Given the description of an element on the screen output the (x, y) to click on. 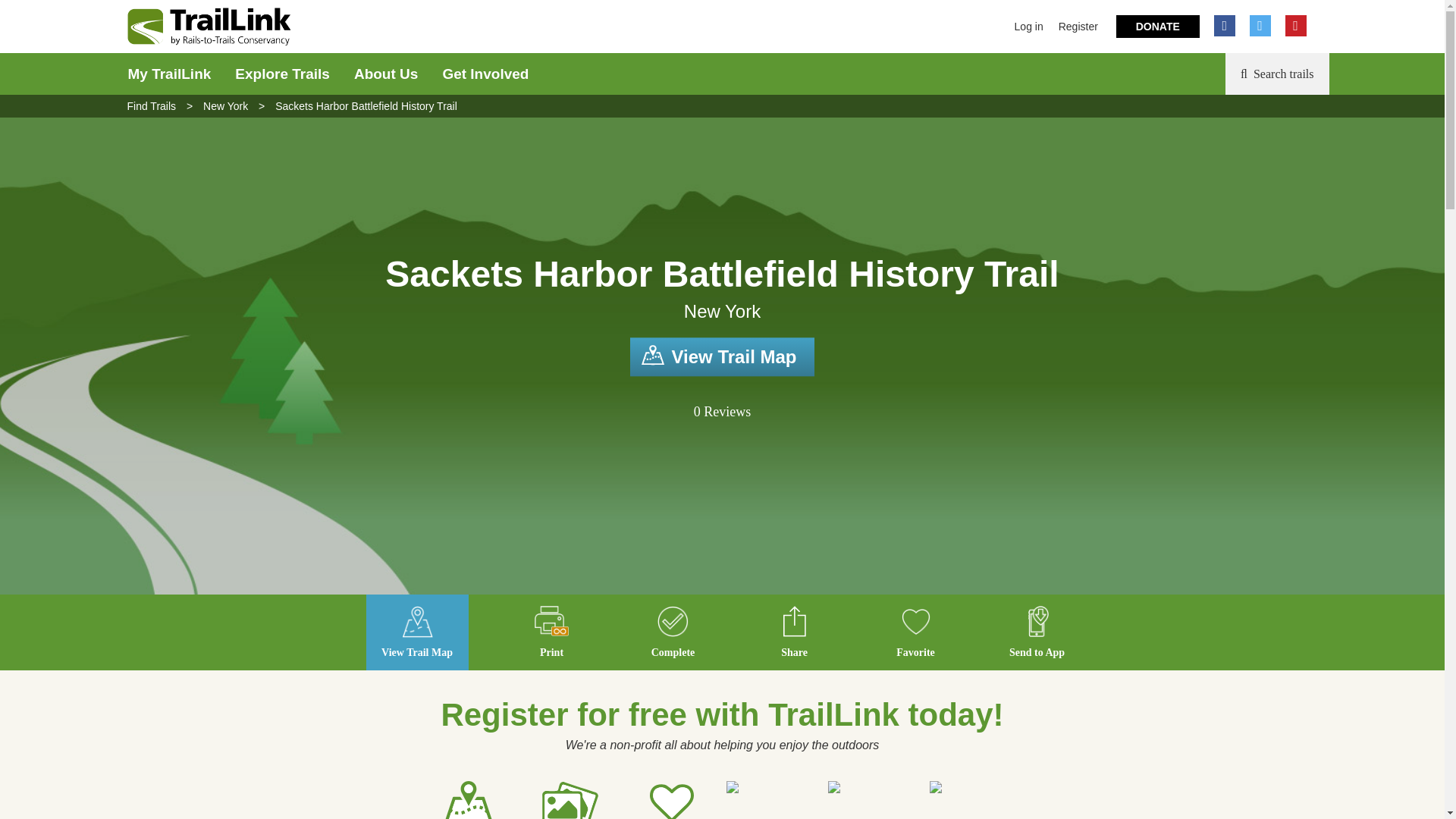
About Us (385, 74)
Search trails (1276, 74)
Explore Trails (282, 74)
Get Involved (484, 74)
My TrailLink (168, 74)
New York (225, 105)
Log in (1028, 26)
Register (1077, 26)
Find Trails (152, 105)
DONATE (1157, 26)
